Given the description of an element on the screen output the (x, y) to click on. 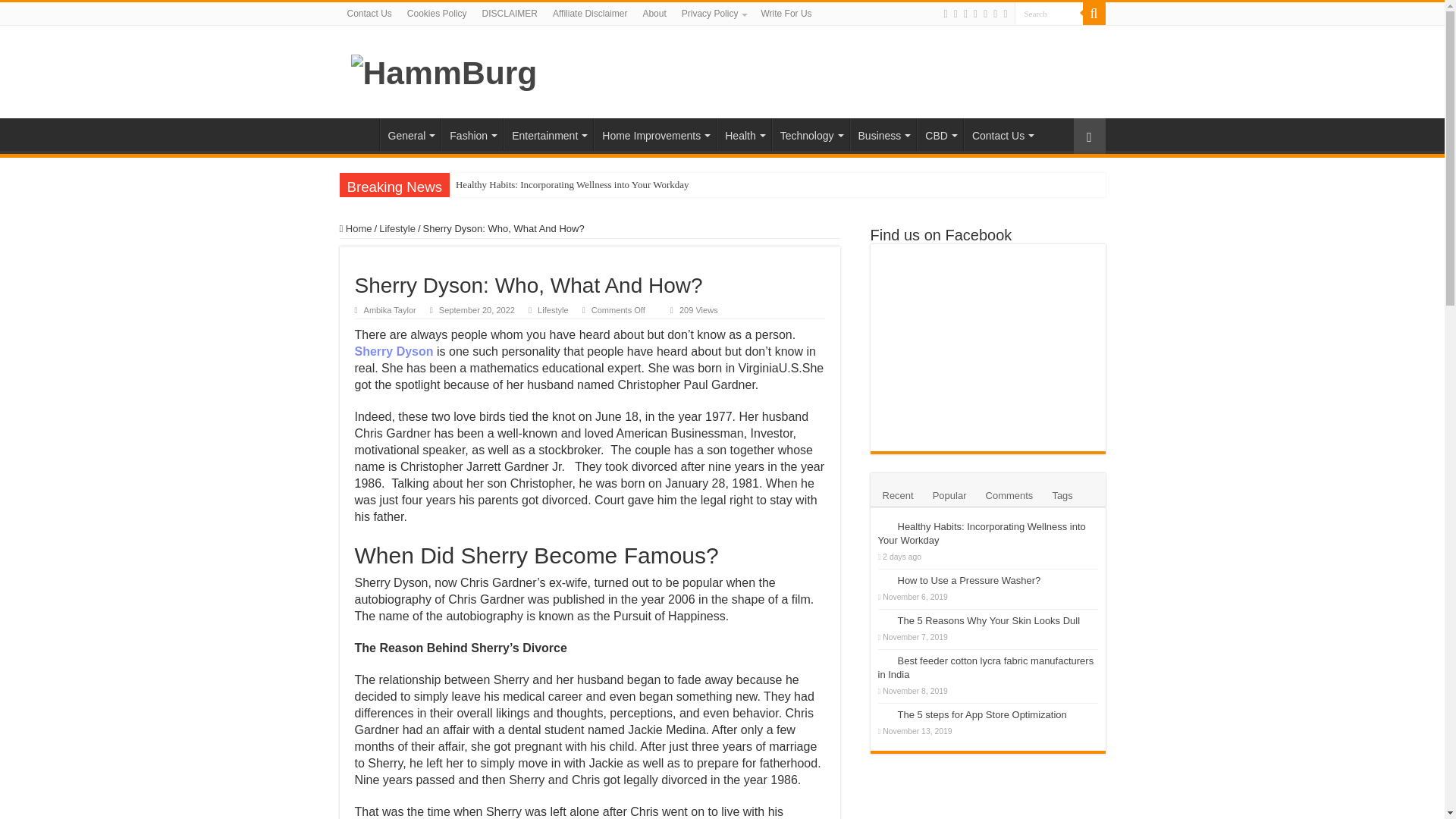
Affiliate Disclaimer (589, 13)
Search (1048, 13)
About (653, 13)
Search (1094, 13)
Search (1048, 13)
Contact Us (368, 13)
Home (358, 133)
Search (1048, 13)
General (409, 133)
DISCLAIMER (509, 13)
Cookies Policy (436, 13)
Write For Us (785, 13)
Privacy Policy (714, 13)
